Given the description of an element on the screen output the (x, y) to click on. 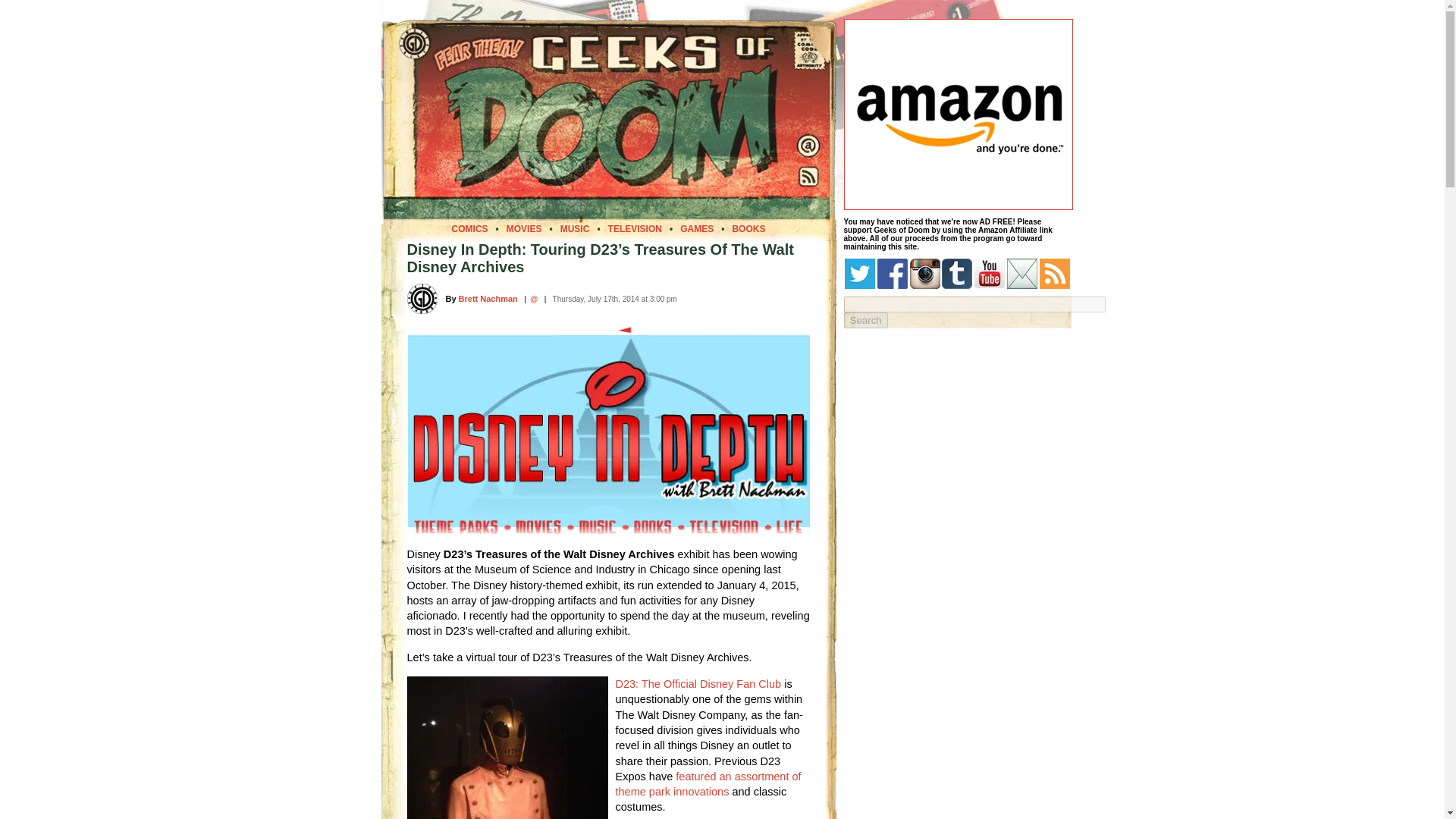
MUSIC (574, 228)
D23: The Official Disney Fan Club (698, 684)
BOOKS (748, 228)
MOVIES (523, 228)
Brett Nachman (488, 298)
GAMES (696, 228)
Disney In Depth banner (608, 429)
Search (864, 320)
View Brett Nachman's profile (488, 298)
COMICS (469, 228)
